Given the description of an element on the screen output the (x, y) to click on. 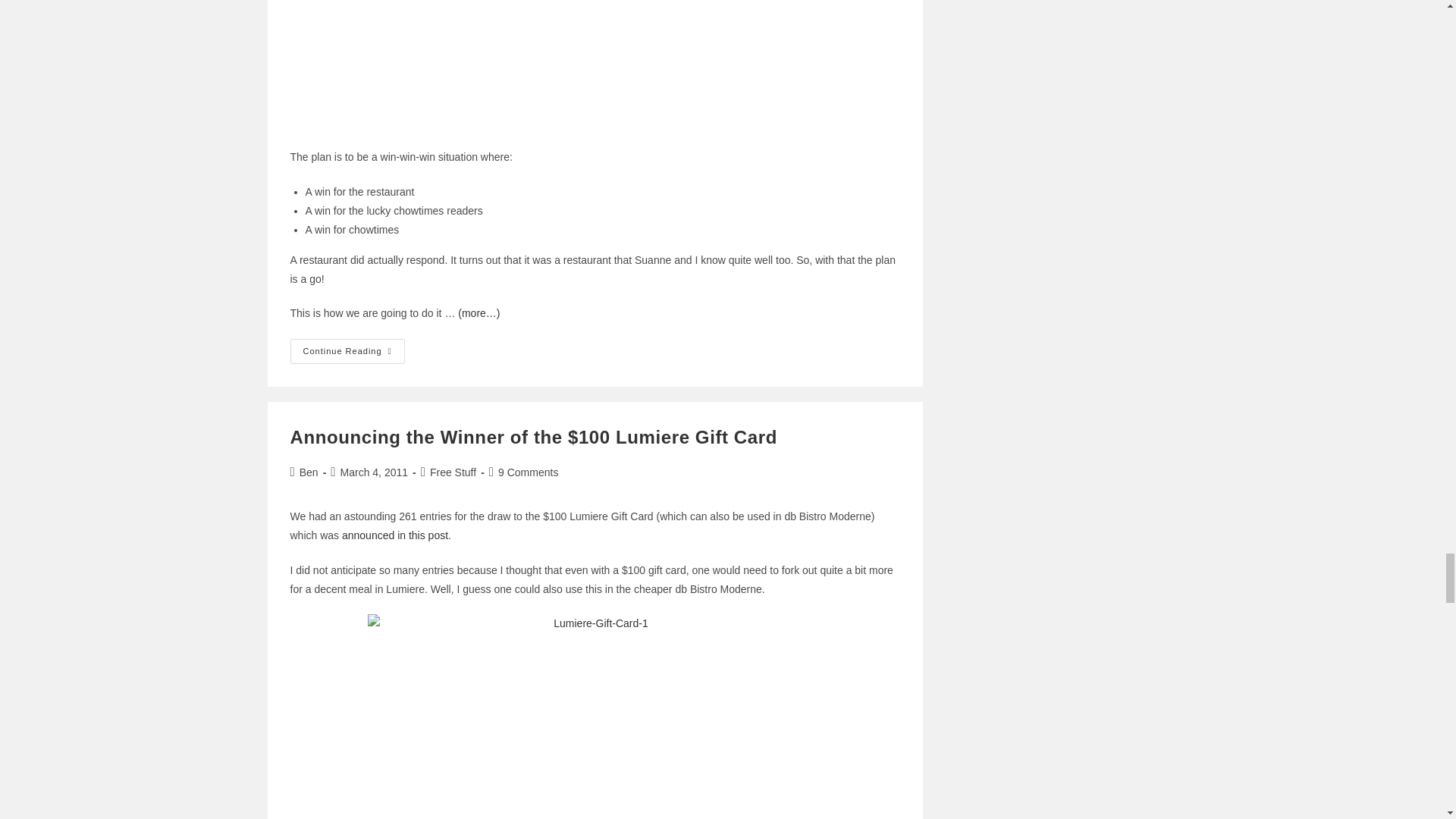
Posts by Ben (308, 472)
